Given the description of an element on the screen output the (x, y) to click on. 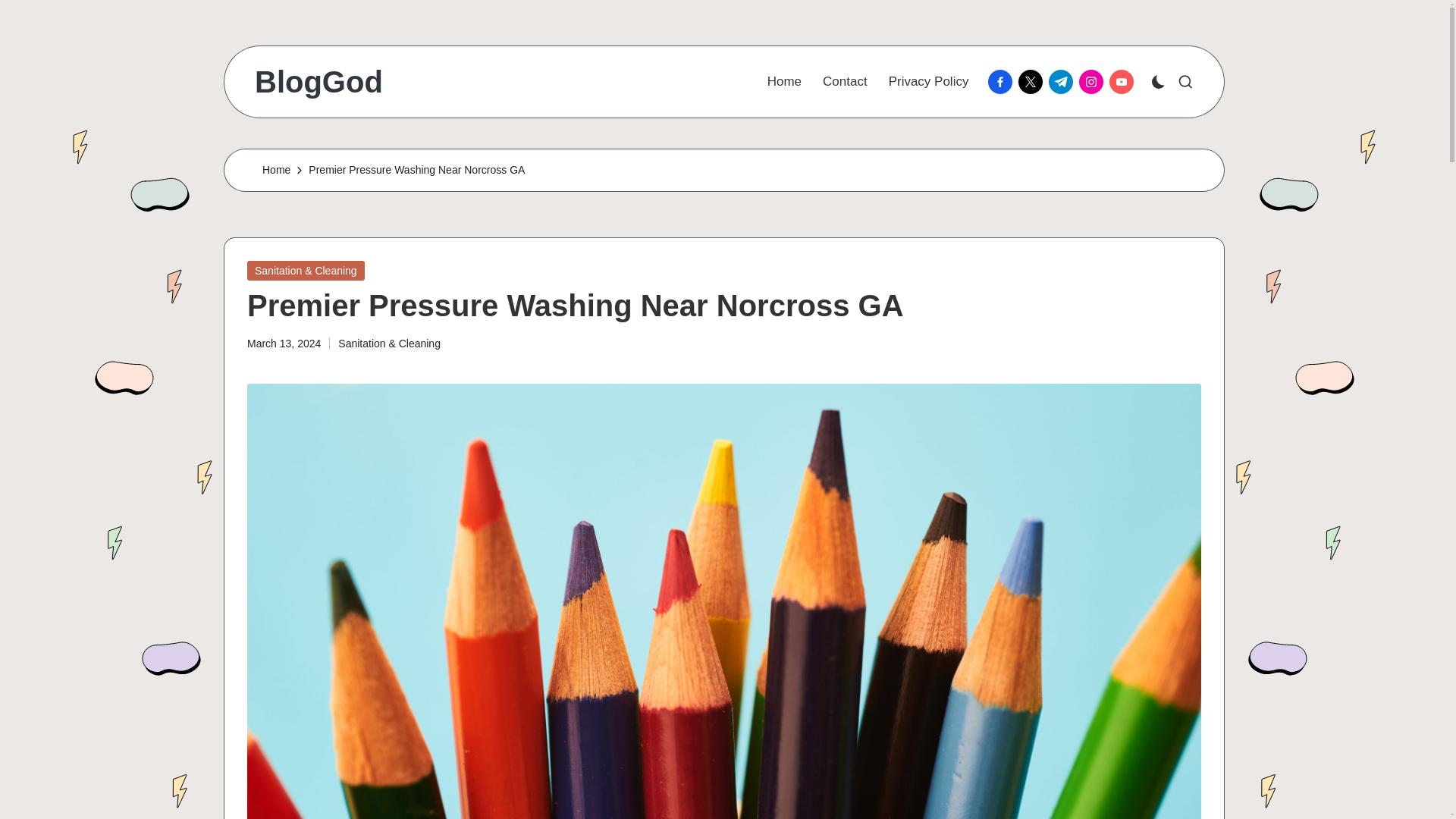
Contact (844, 81)
instagram.com (1093, 81)
facebook.com (1002, 81)
youtube.com (1124, 81)
Privacy Policy (928, 81)
t.me (1063, 81)
twitter.com (1032, 81)
Home (275, 169)
Home (784, 81)
BlogGod (318, 81)
